Given the description of an element on the screen output the (x, y) to click on. 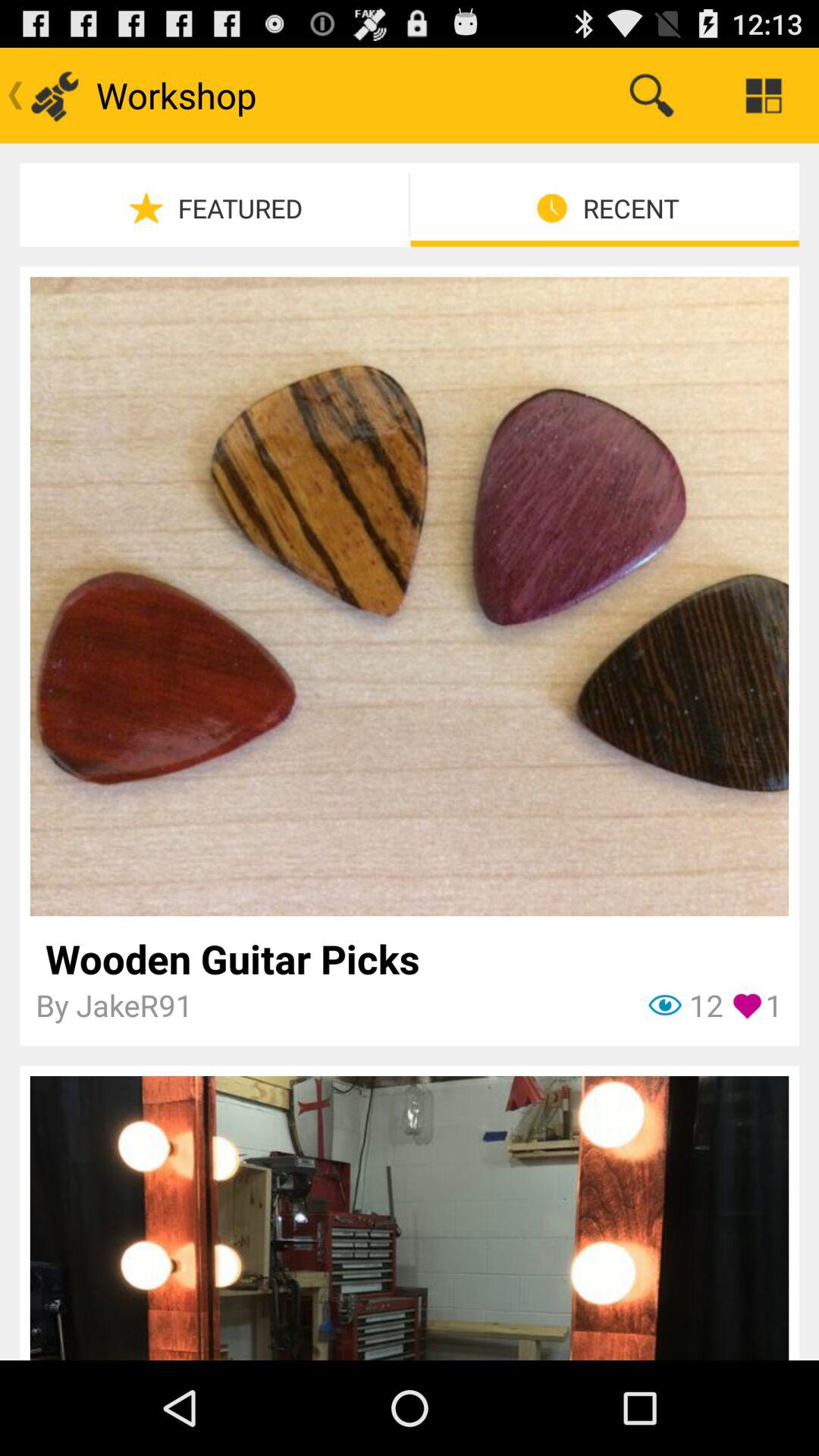
select item above the 1 icon (408, 958)
